Given the description of an element on the screen output the (x, y) to click on. 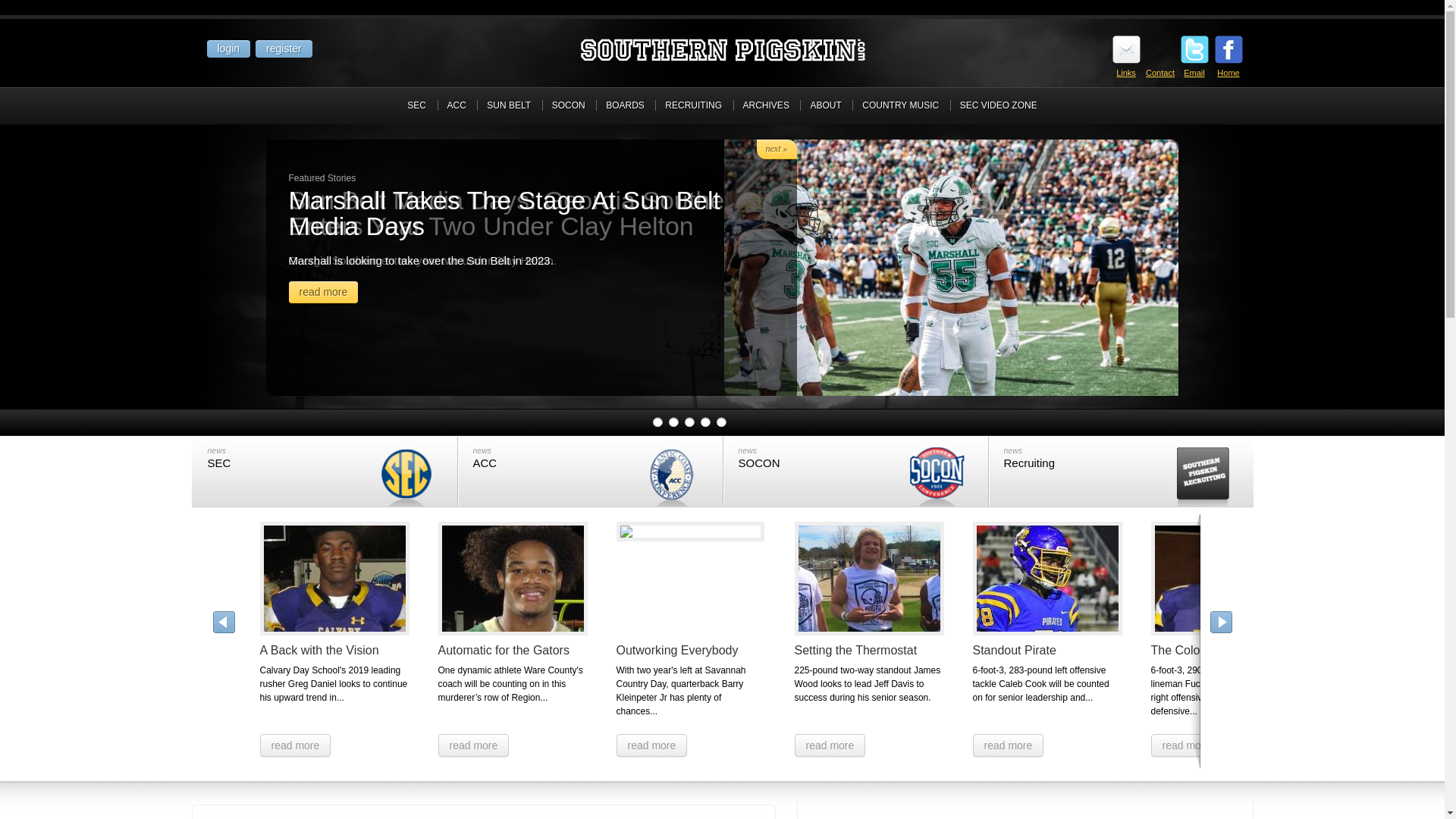
register (284, 48)
login (228, 48)
SEC VIDEO ZONE (998, 104)
BOARDS (624, 104)
ACC (457, 104)
SEC (416, 104)
ARCHIVES (765, 104)
RECRUITING (692, 104)
SOCON (567, 104)
Contact (1159, 79)
read more (323, 291)
Email (1193, 79)
ABOUT (824, 104)
Links (1125, 79)
